Given the description of an element on the screen output the (x, y) to click on. 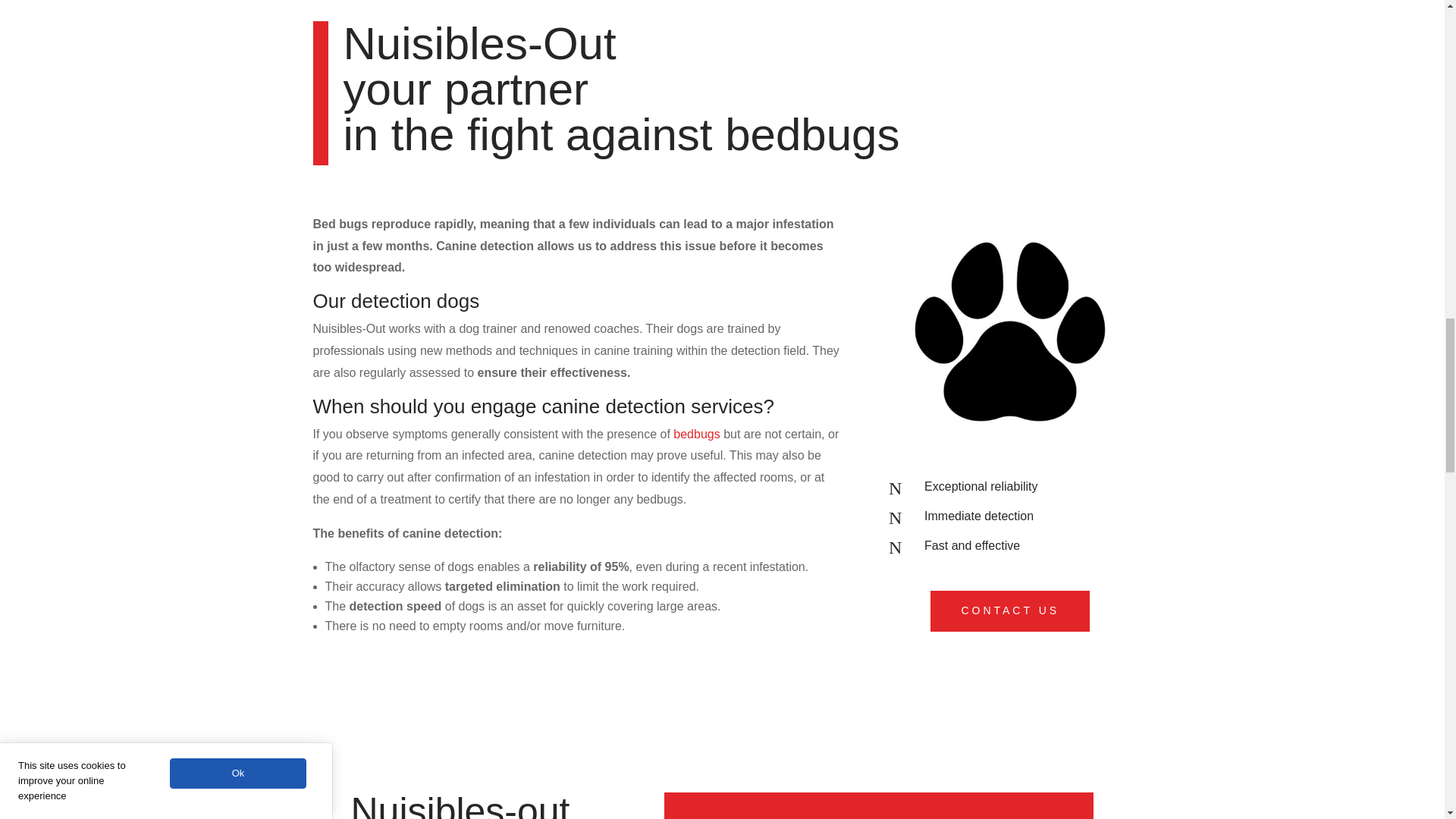
Black,Silhouette,Of,A,Paw,Print,,Isolated. (1009, 334)
